Given the description of an element on the screen output the (x, y) to click on. 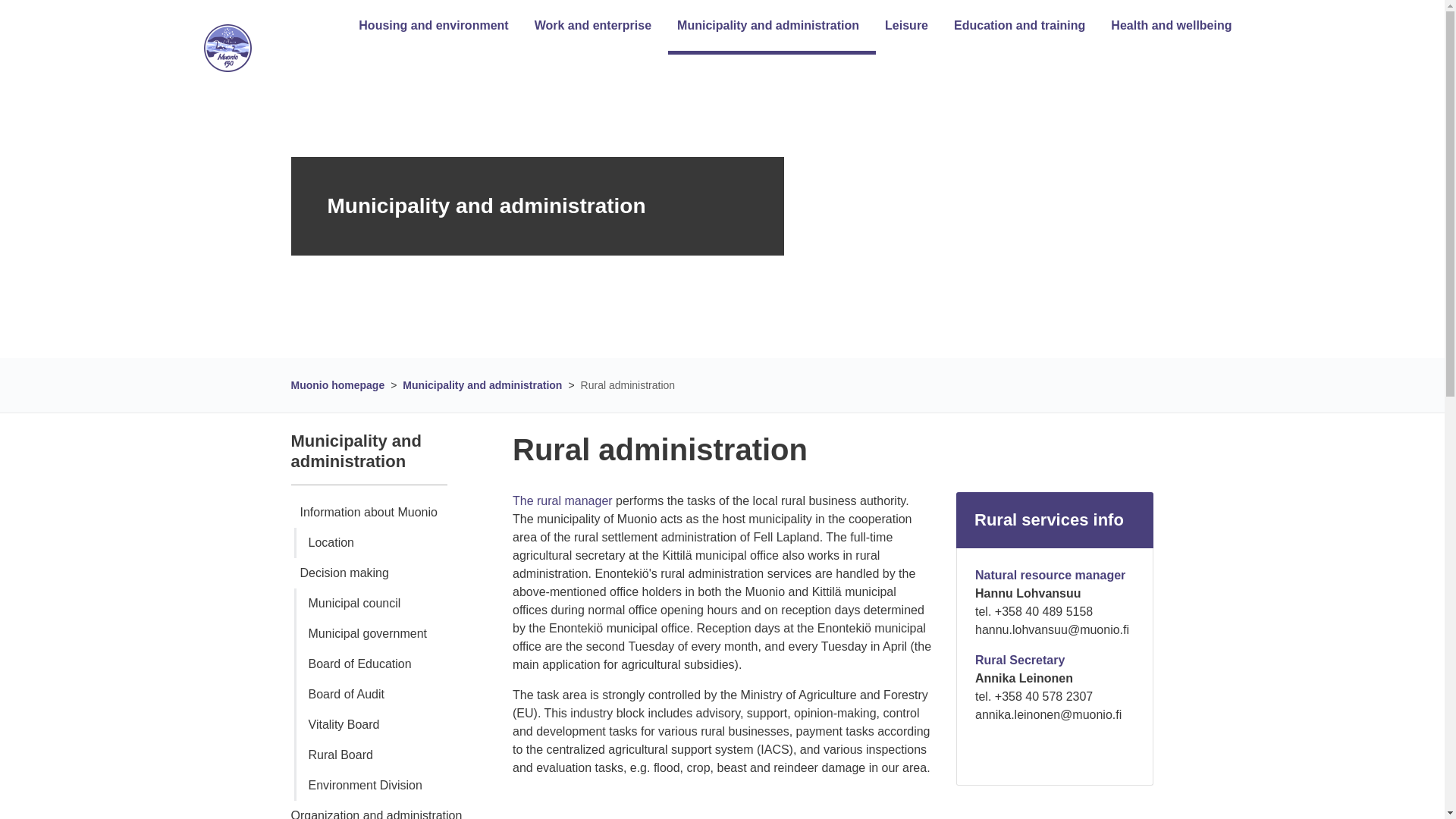
Work and enterprise (587, 25)
Leisure (902, 25)
etusivulle (226, 48)
Housing and environment (428, 25)
Municipality and administration (763, 25)
Education and training (1014, 25)
